Given the description of an element on the screen output the (x, y) to click on. 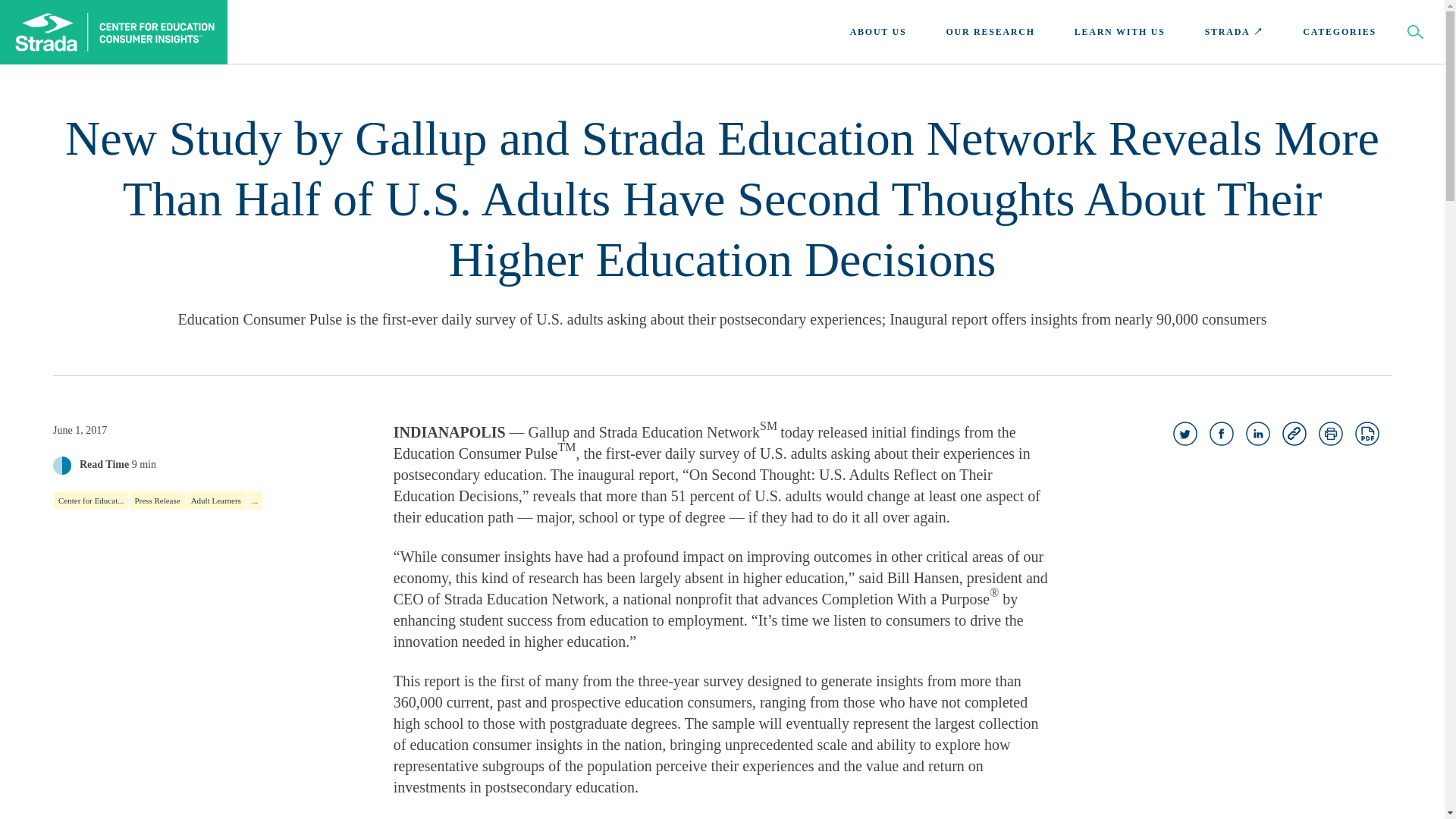
LEARN WITH US (1120, 31)
OUR RESEARCH (989, 31)
Group 13 (1184, 433)
CATEGORIES (1339, 31)
Group 12 (1257, 433)
Group 11 (1221, 433)
ABOUT US (877, 31)
